Given the description of an element on the screen output the (x, y) to click on. 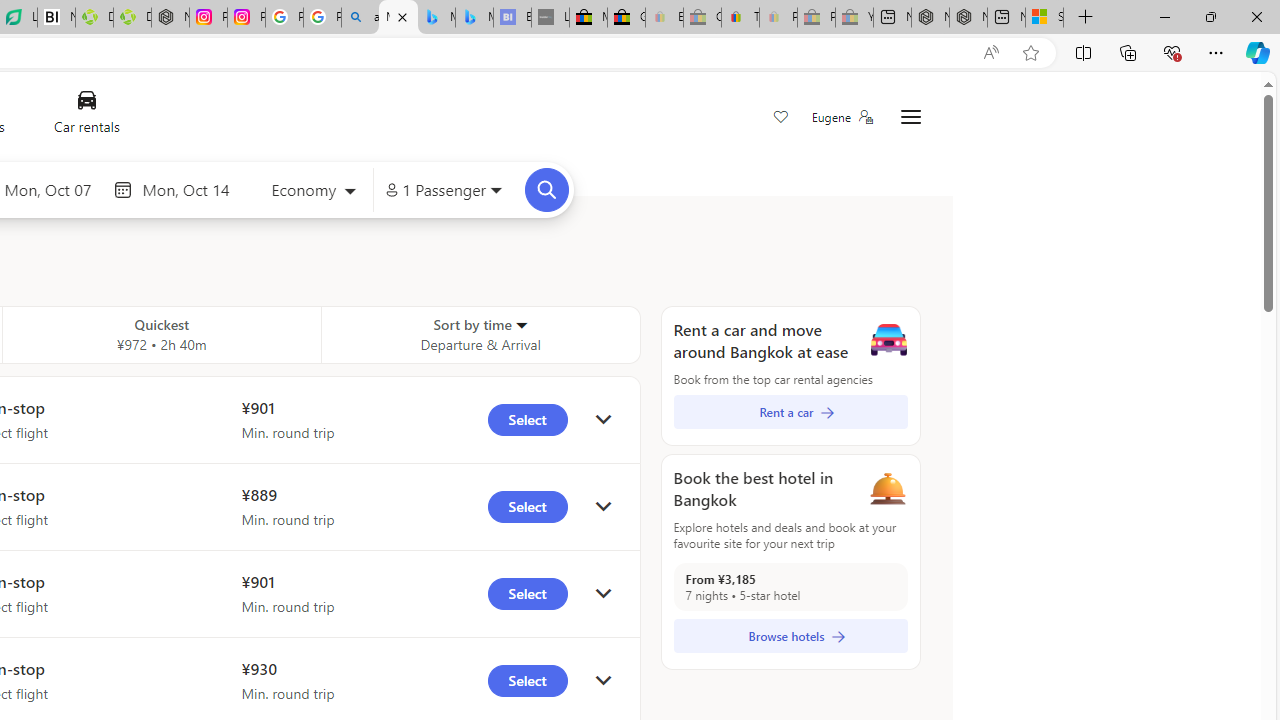
Descarga Driver Updater (132, 17)
Yard, Garden & Outdoor Living - Sleeping (853, 17)
Eugene (841, 117)
